Given the description of an element on the screen output the (x, y) to click on. 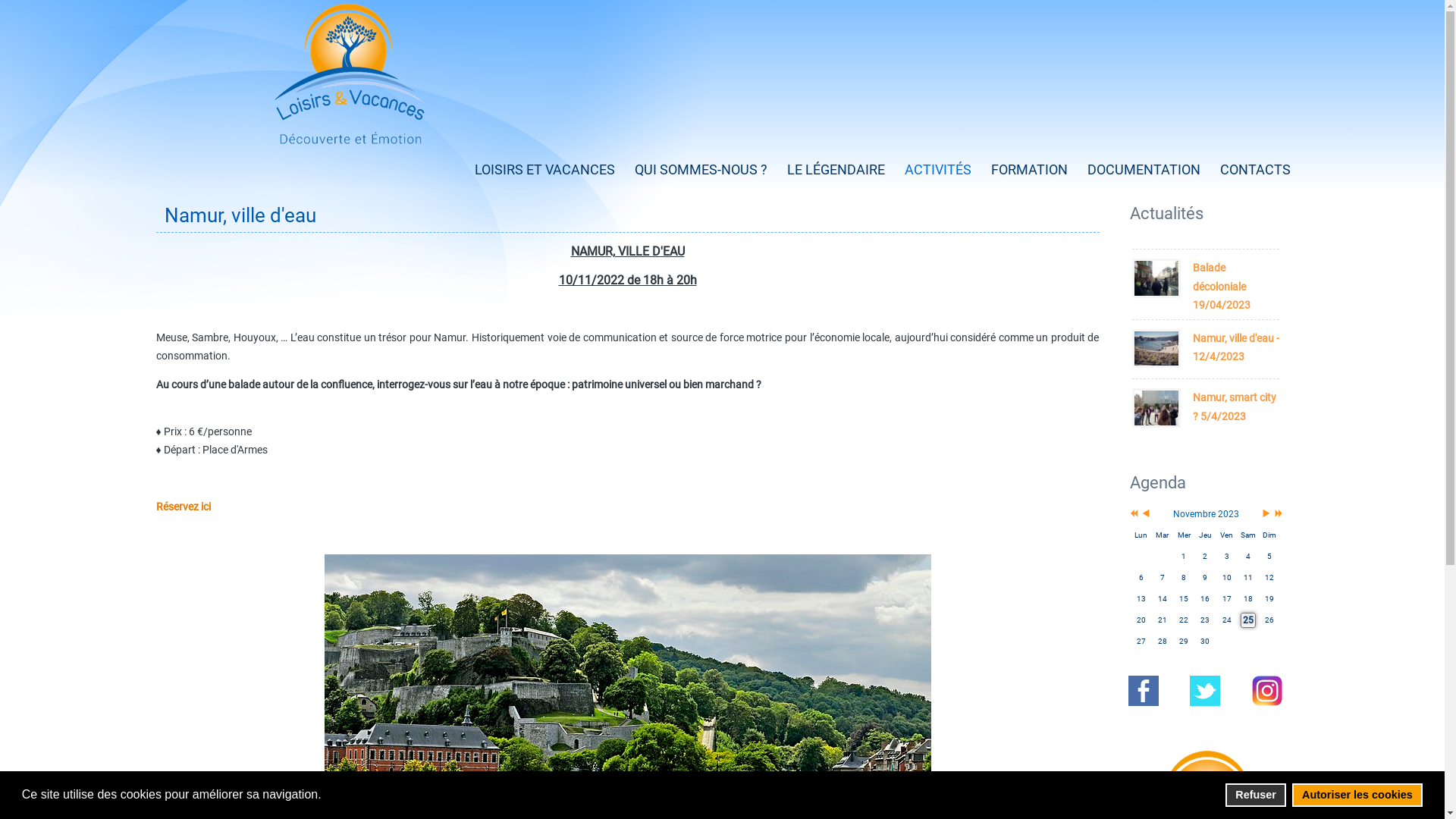
Mois suivant Element type: text (1265, 514)
Autoriser les cookies Element type: text (1357, 794)
DOCUMENTATION Element type: text (1143, 169)
Refuser Element type: text (1255, 794)
Namur, smart city ? 5/4/2023 Element type: text (1233, 406)
FORMATION Element type: text (1028, 169)
CONTACTS Element type: text (1254, 169)
QUI SOMMES-NOUS ? Element type: text (699, 169)
Namur, ville d'eau - 12/4/2023 Element type: text (1235, 347)
Namur, ville d'eau - 12/4/2023 Element type: hover (1155, 348)
Namur, smart city ? 5/4/2023 Element type: hover (1155, 407)
LOISIRS ET VACANCES Element type: text (544, 169)
